Given the description of an element on the screen output the (x, y) to click on. 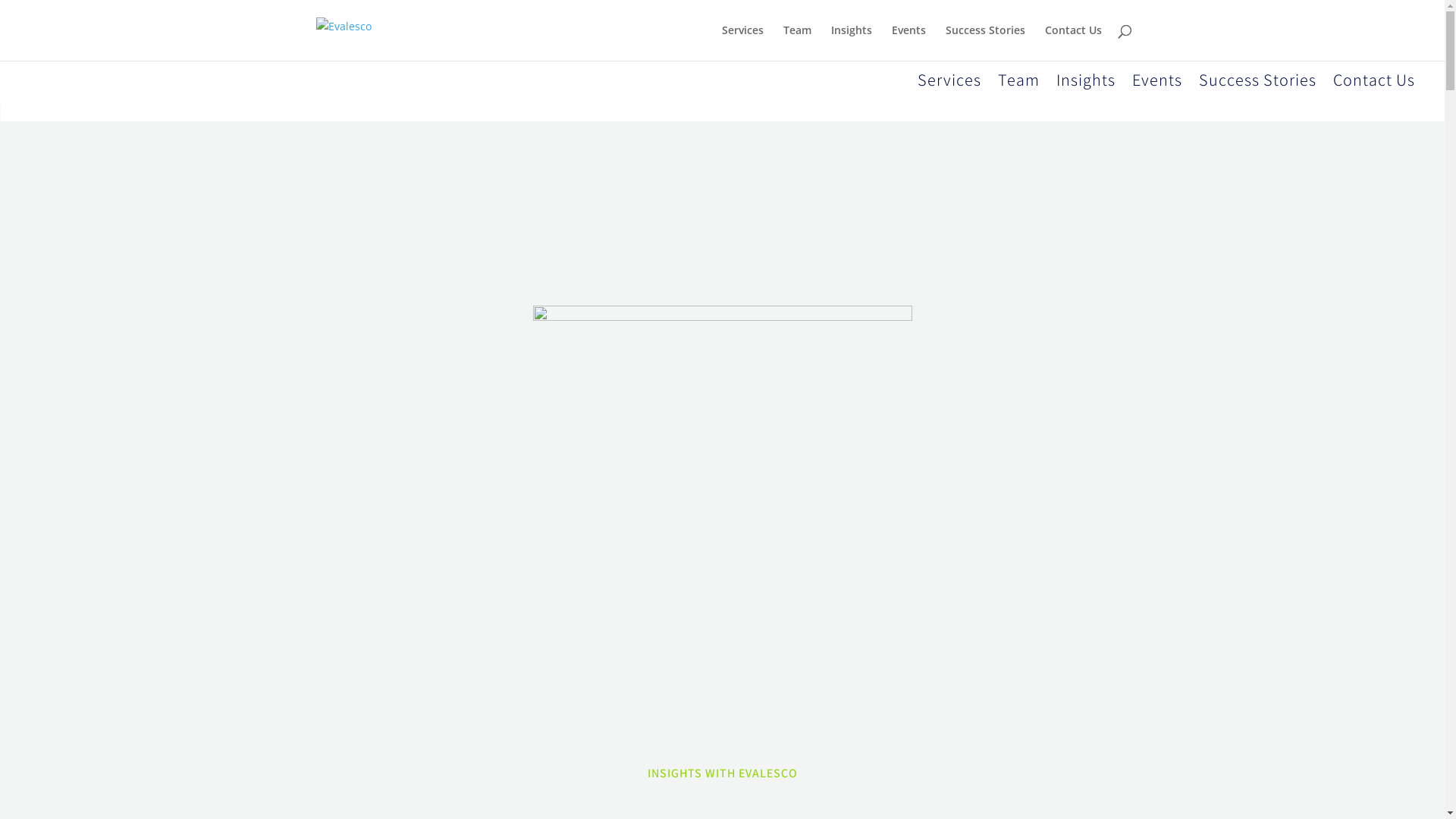
Team Element type: text (1018, 82)
Success Stories Element type: text (984, 42)
Contact Us Element type: text (1072, 42)
Success Stories Element type: text (1257, 82)
Team Element type: text (796, 42)
Events Element type: text (908, 42)
Insights Element type: text (851, 42)
pexels-evie-shaffer-2395251 Element type: hover (721, 494)
EVA-CMYK-533-3255-375-108-190320 Element type: hover (109, 59)
Insights Element type: text (1085, 82)
Schedule a chat Element type: text (288, 9)
Contact Us Element type: text (1374, 82)
Events Element type: text (1157, 82)
Services Element type: text (742, 42)
Services Element type: text (949, 82)
Do you have a question? Call us on 9232 6800 Element type: text (115, 13)
